Given the description of an element on the screen output the (x, y) to click on. 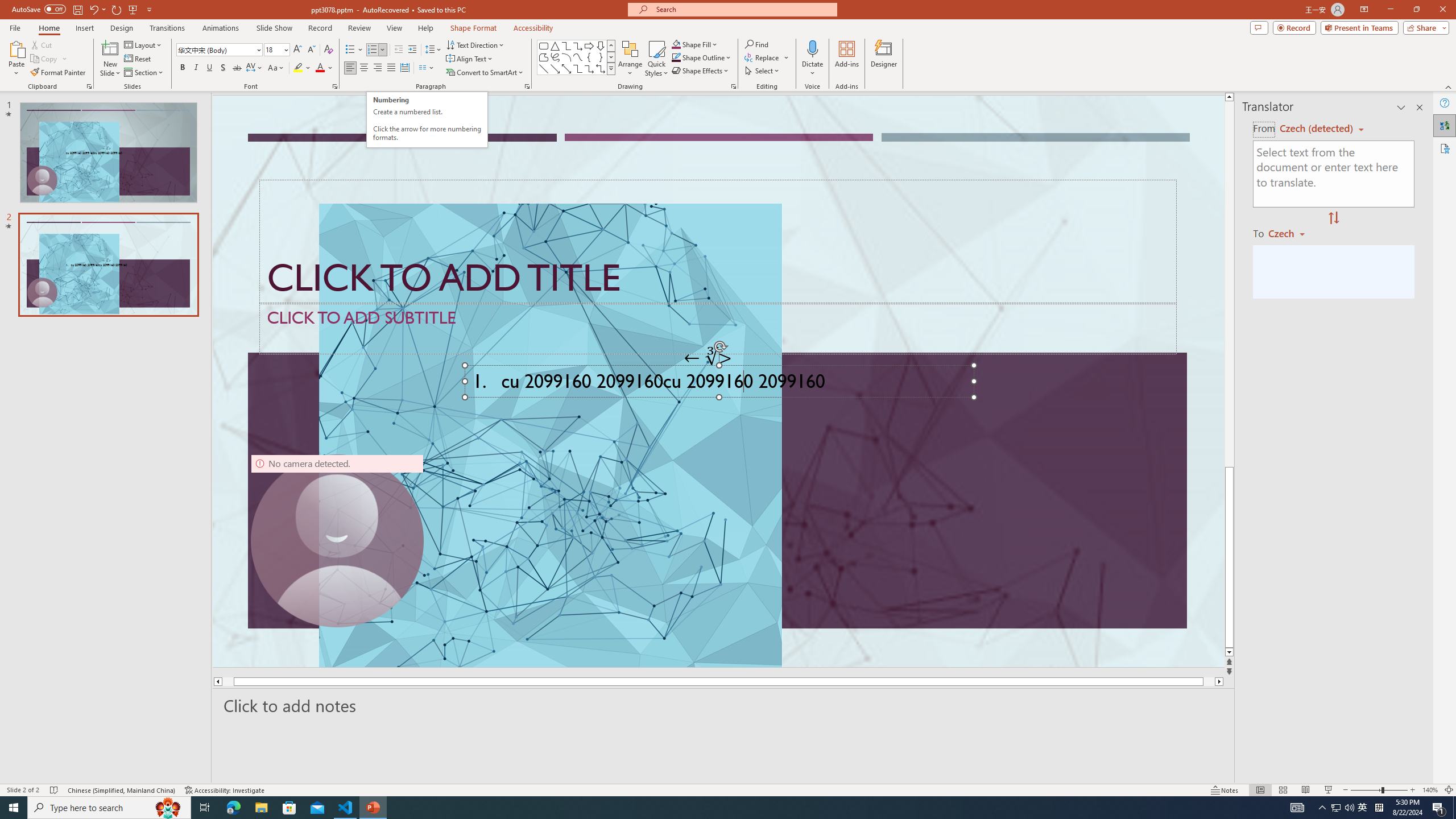
Align Left (349, 67)
Justify (390, 67)
Strikethrough (237, 67)
Slide Notes (724, 705)
Layout (143, 44)
Shape Outline (701, 56)
Line up (1229, 96)
AutomationID: ShapesInsertGallery (576, 57)
